Given the description of an element on the screen output the (x, y) to click on. 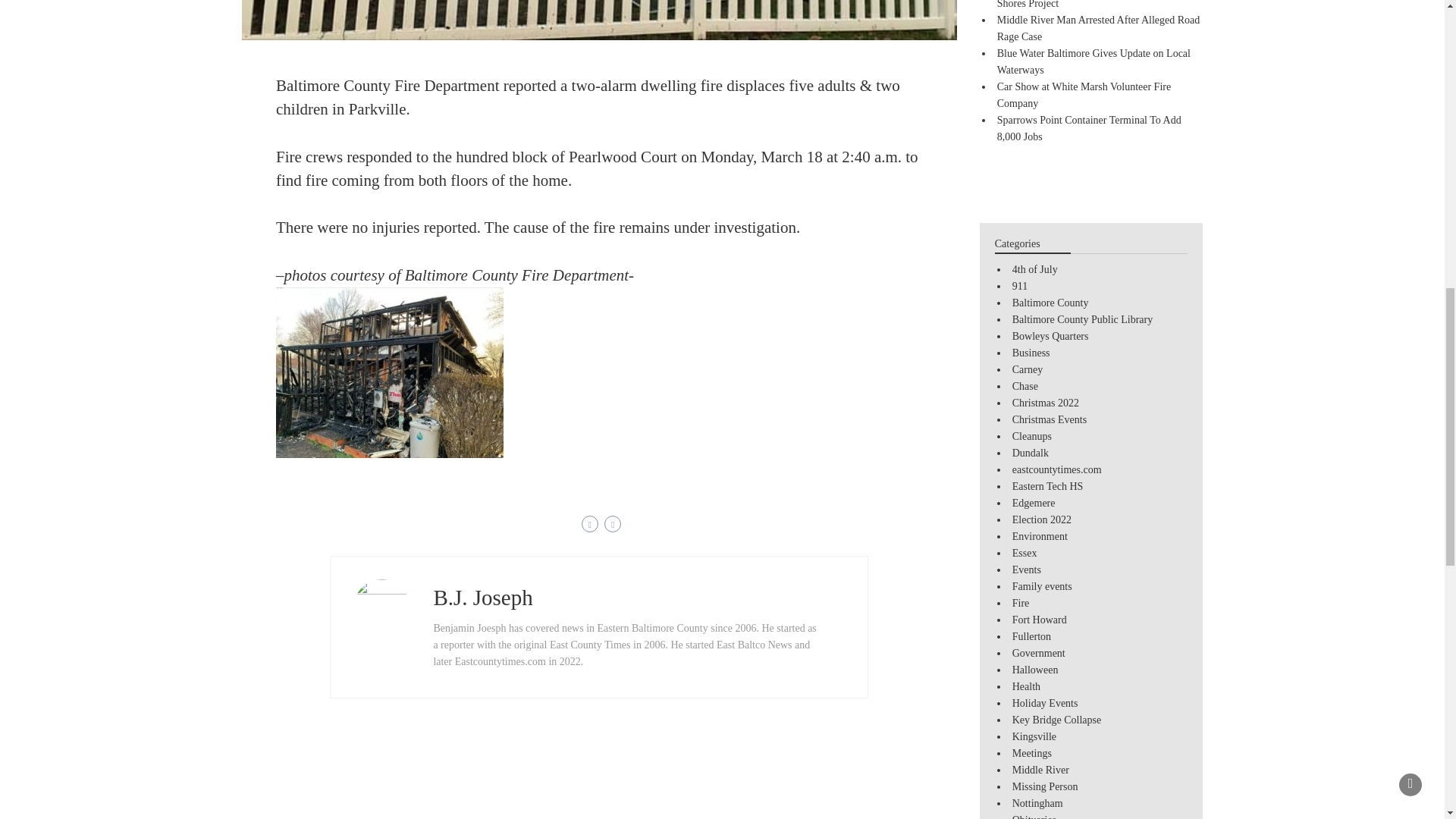
B.J. Joseph (482, 597)
